Given the description of an element on the screen output the (x, y) to click on. 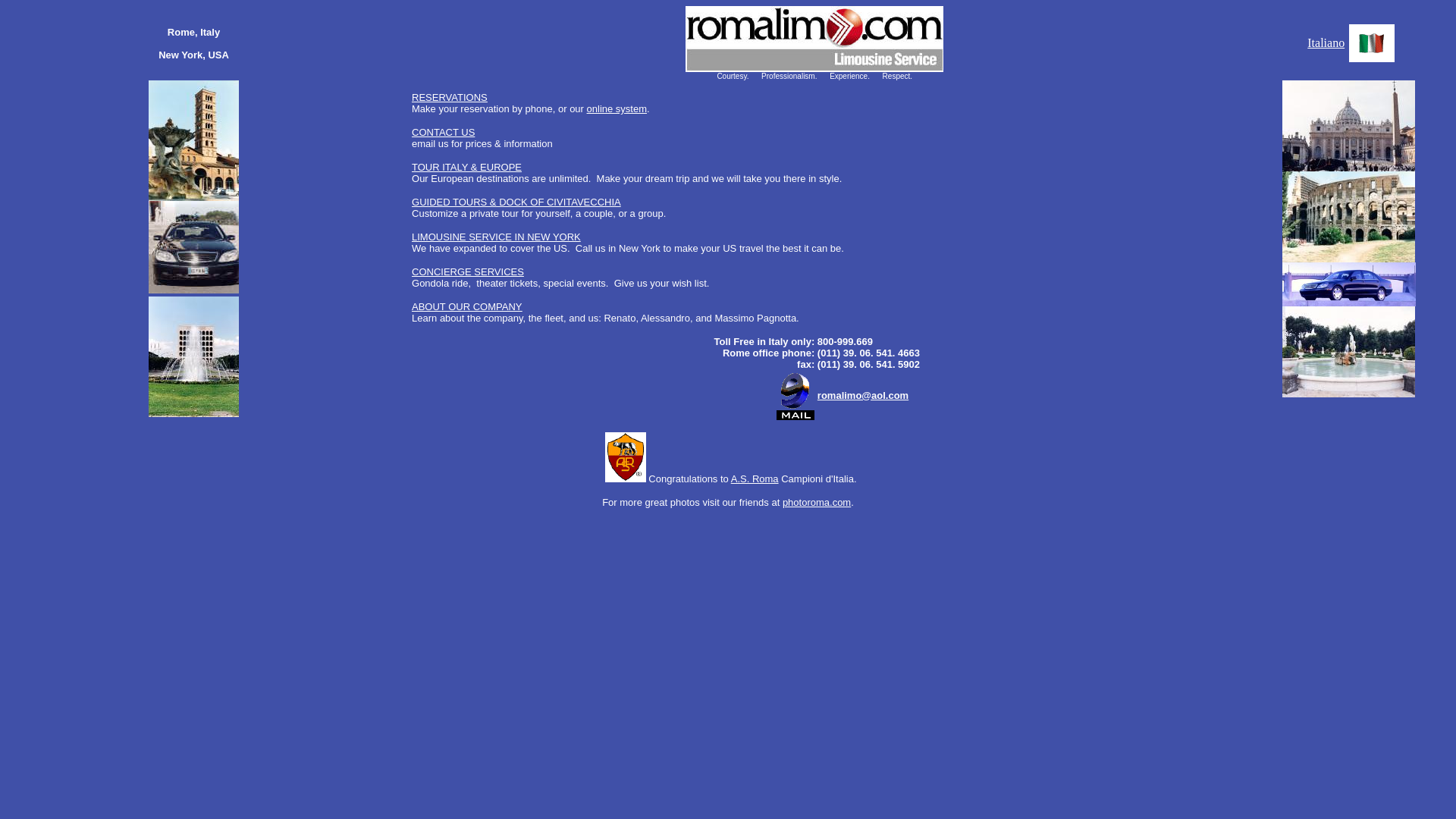
LIMOUSINE SERVICE IN NEW YORK (496, 236)
Italiano (1325, 42)
CONTACT US (443, 132)
RESERVATIONS (449, 102)
ABOUT OUR COMPANY (466, 305)
A.S. Roma (754, 478)
photoroma.com (816, 501)
CONCIERGE SERVICES (468, 271)
online system (616, 108)
